Given the description of an element on the screen output the (x, y) to click on. 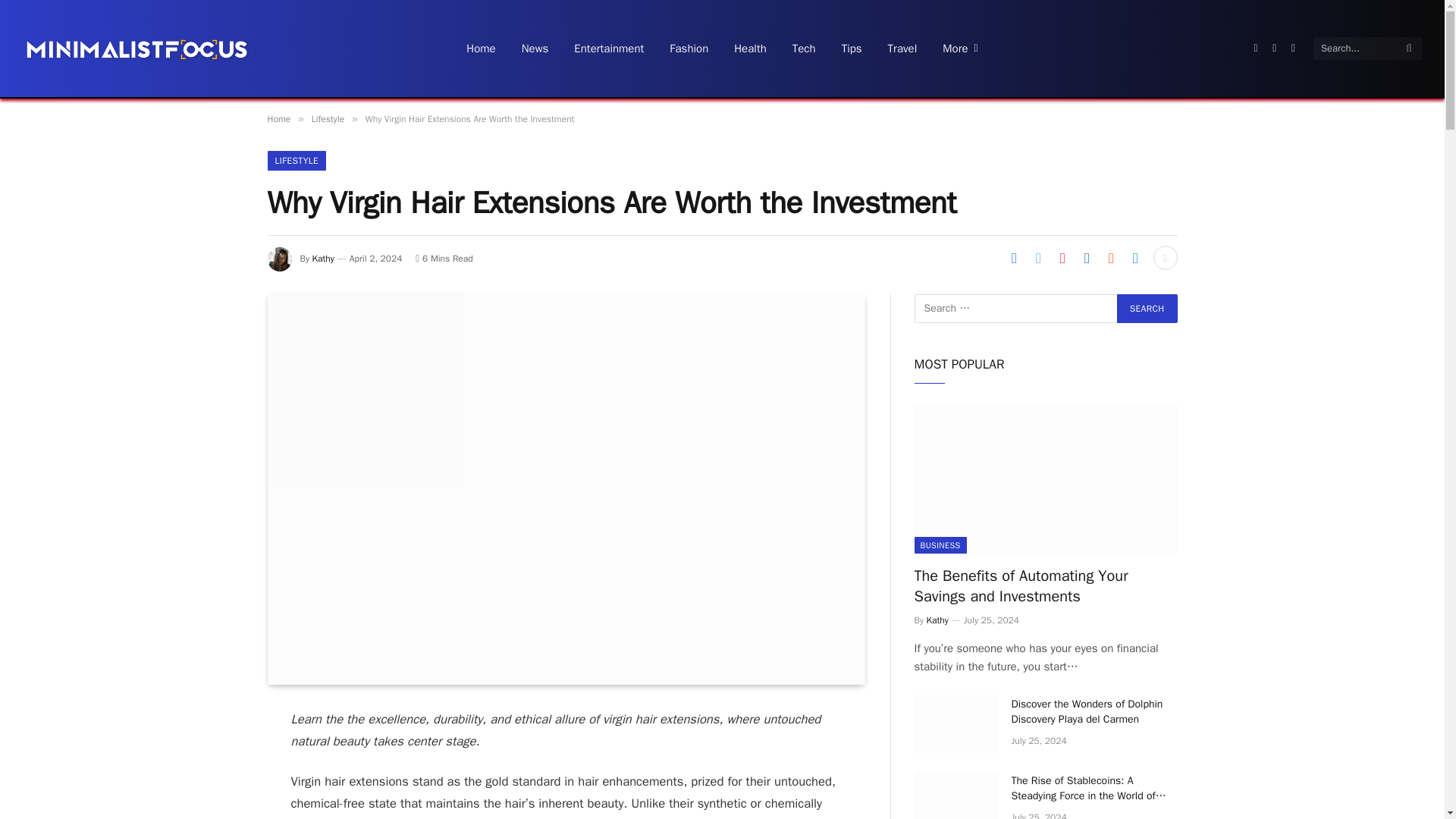
Share on Telegram (1135, 257)
Show More Social Sharing (1164, 257)
Search (1146, 308)
Search (1146, 308)
Share on Facebook (1014, 257)
Share on Reddit (1110, 257)
Lifestyle (327, 119)
Posts by Kathy (323, 258)
Share on Pinterest (1062, 257)
Minimalist Focus (136, 48)
Home (277, 119)
Entertainment (608, 48)
Share on LinkedIn (1086, 257)
